Given the description of an element on the screen output the (x, y) to click on. 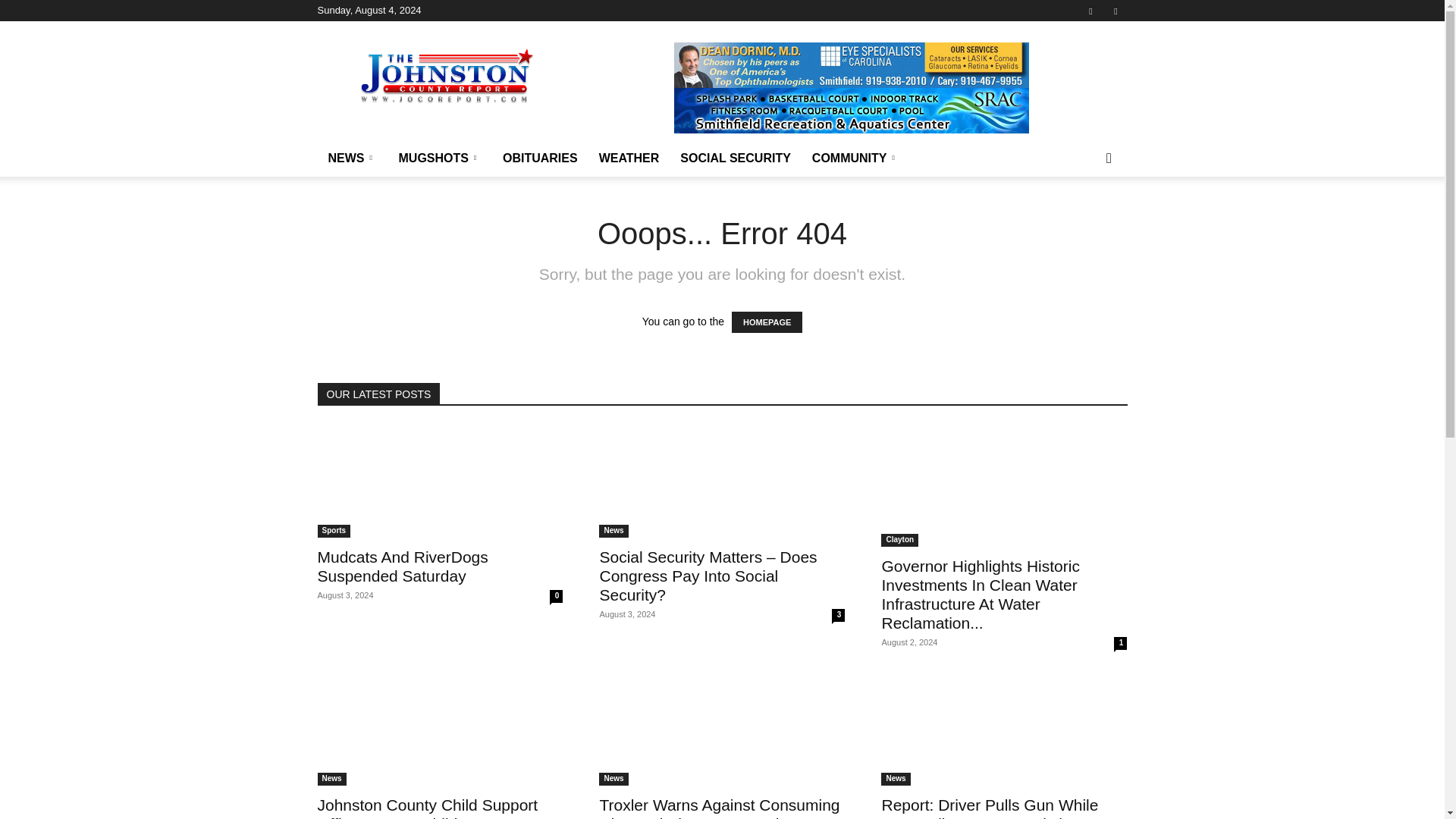
Mudcats And RiverDogs Suspended Saturday (439, 481)
Twitter (1114, 10)
Facebook (1090, 10)
Johnston County Report (445, 76)
Mudcats And RiverDogs Suspended Saturday (402, 565)
